Given the description of an element on the screen output the (x, y) to click on. 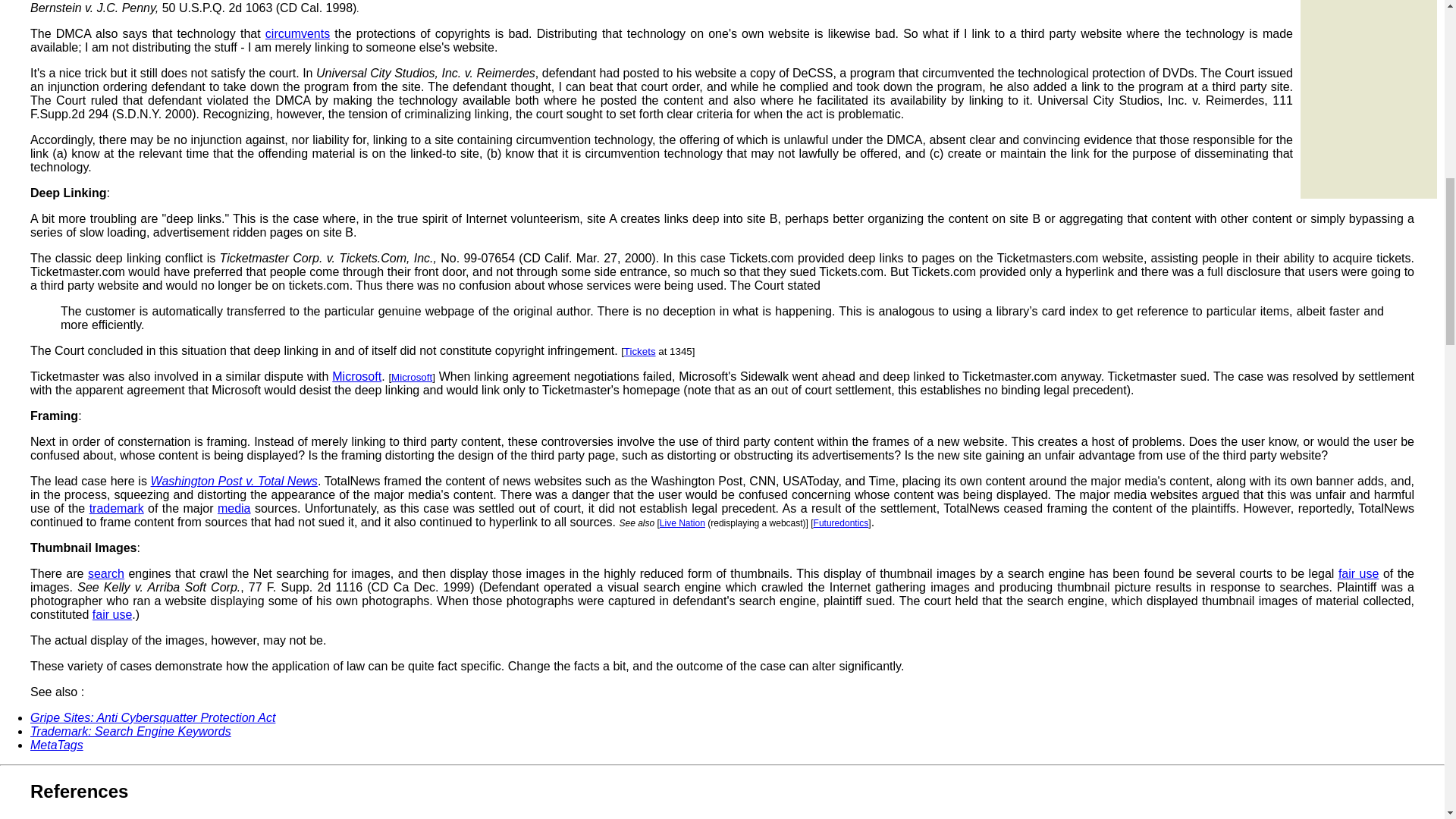
Gripe Sites: Anti Cybersquatter Protection Act (152, 717)
circumvents (297, 33)
Microsoft (411, 377)
fair use (112, 614)
Tickets (640, 351)
fair use (1358, 573)
MetaTags (56, 744)
Live Nation (681, 522)
trademark (116, 508)
Washington Post v. Total News (234, 481)
